Given the description of an element on the screen output the (x, y) to click on. 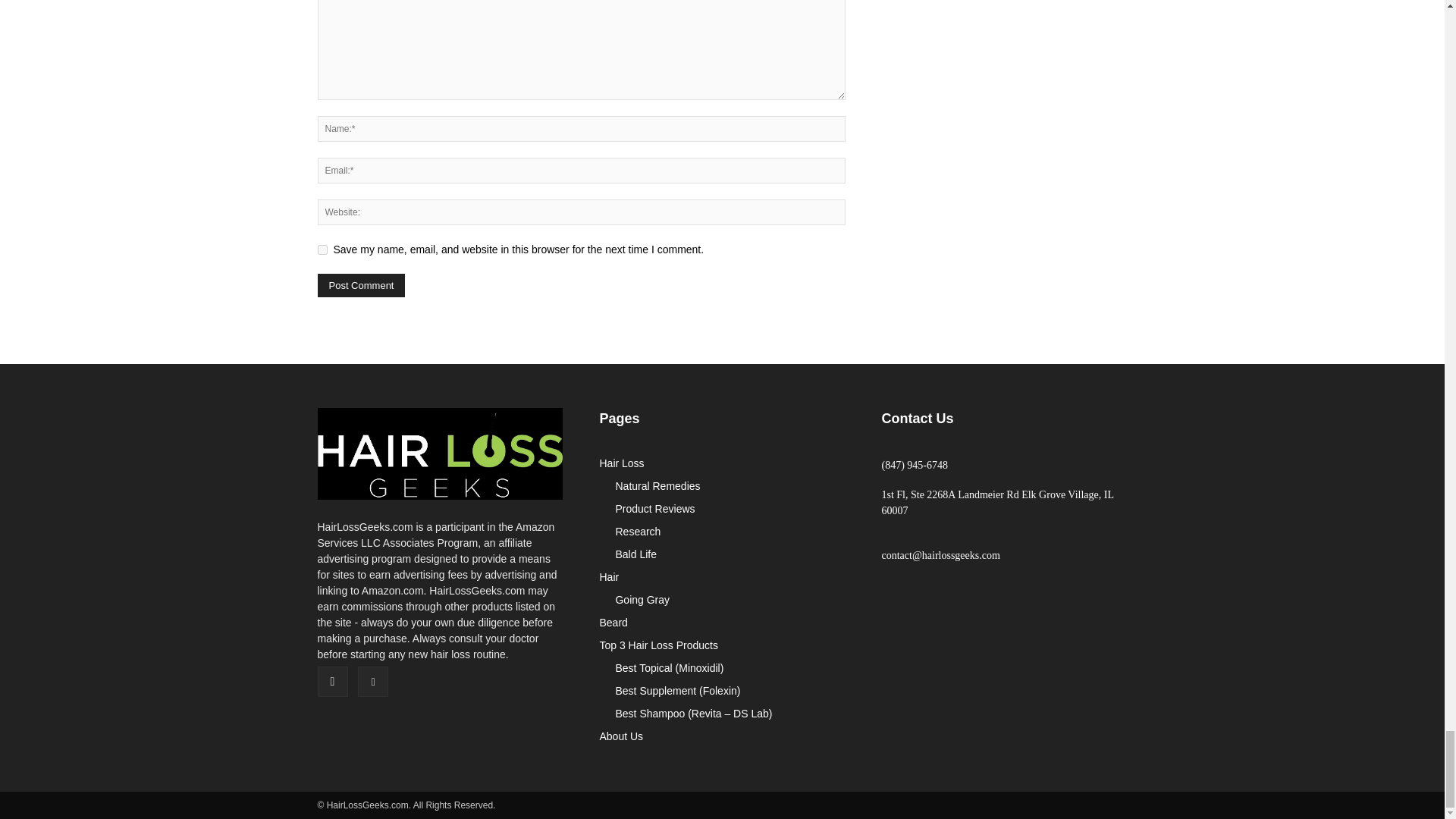
Post Comment (360, 285)
yes (321, 249)
